Given the description of an element on the screen output the (x, y) to click on. 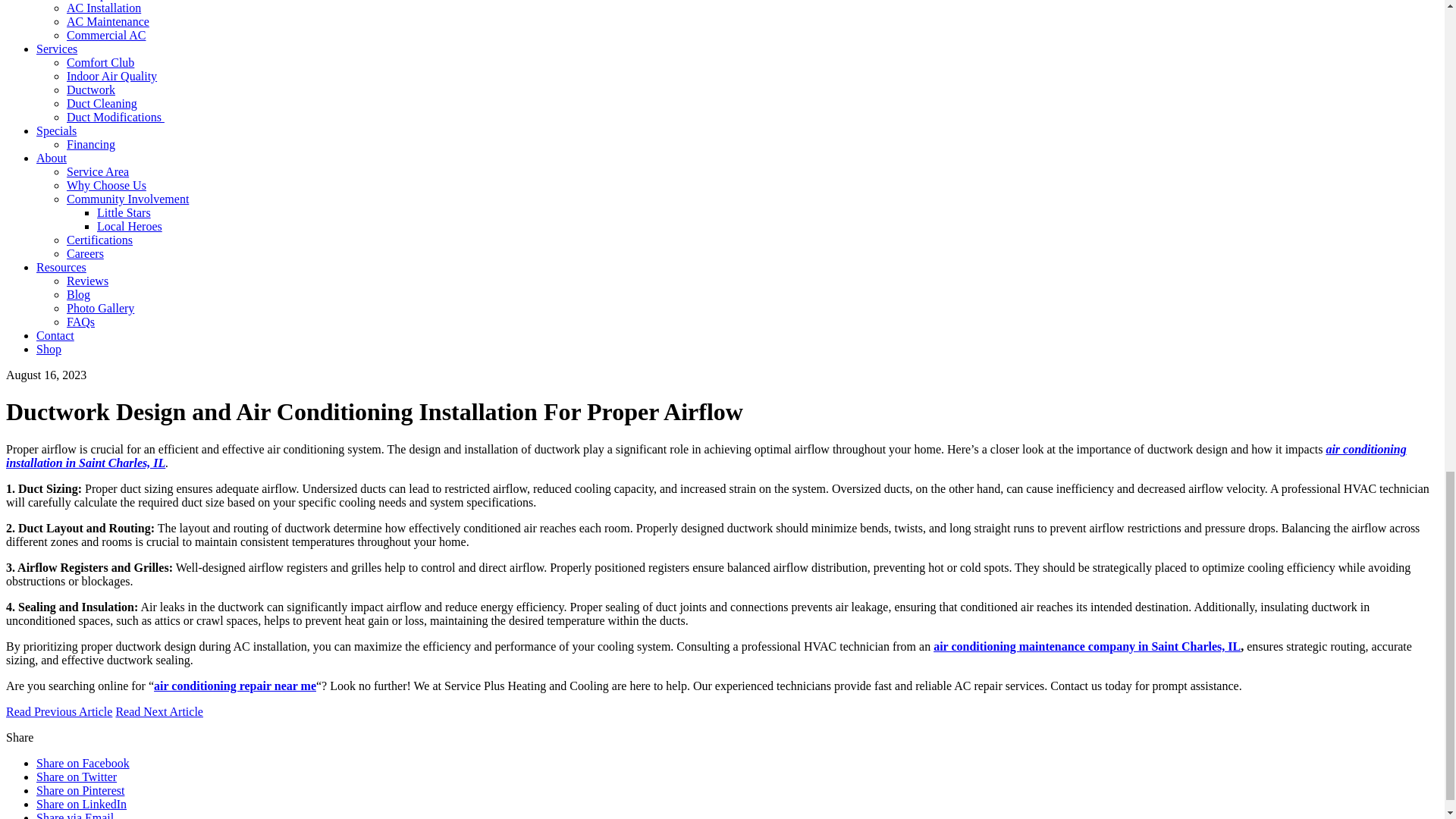
Share on LinkedIn (81, 803)
Share on Facebook (82, 762)
Share on Twitter (76, 776)
Share on Pinterest (79, 789)
